Given the description of an element on the screen output the (x, y) to click on. 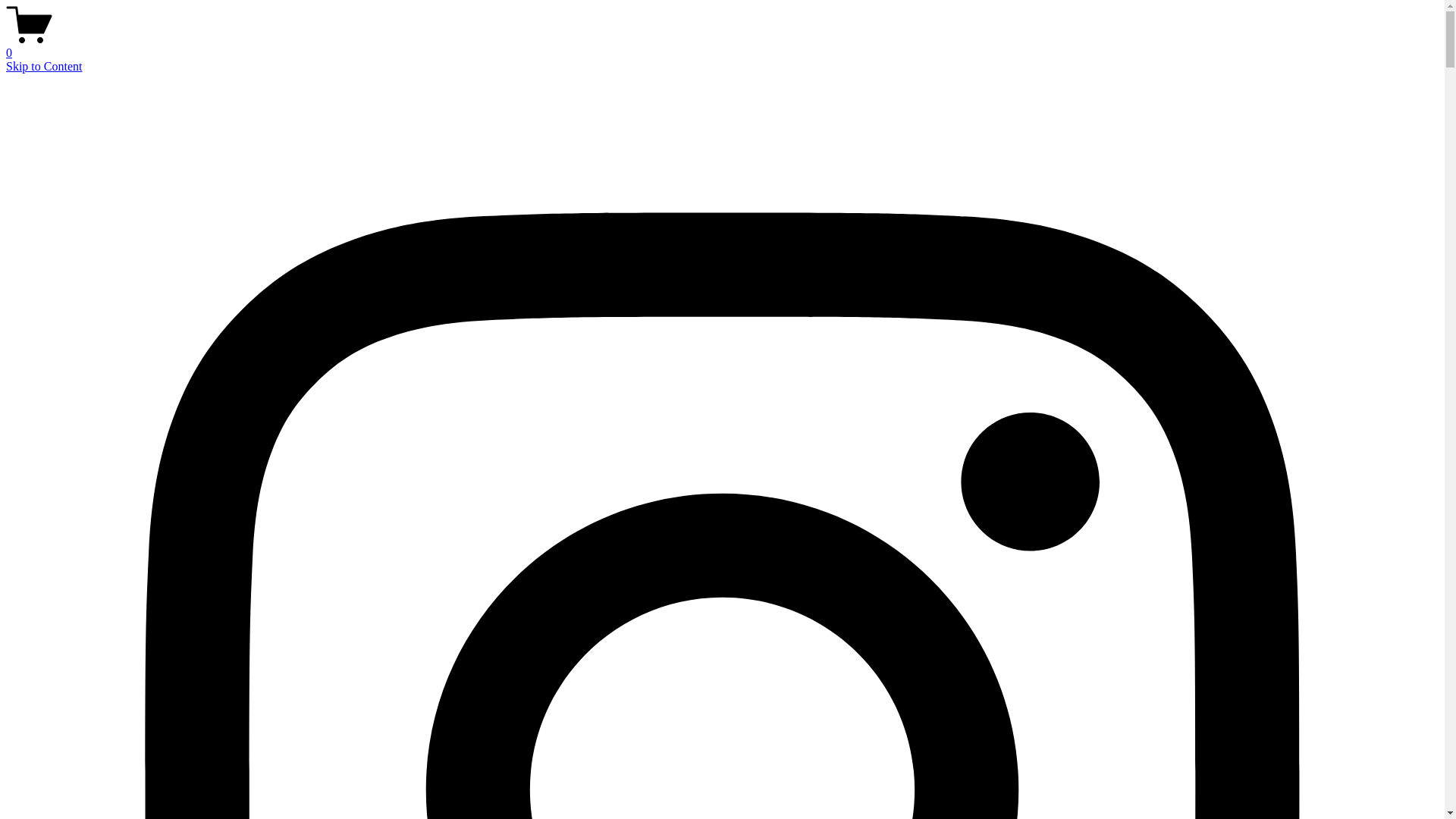
Skip to Content Element type: text (43, 65)
0 Element type: text (722, 45)
